Given the description of an element on the screen output the (x, y) to click on. 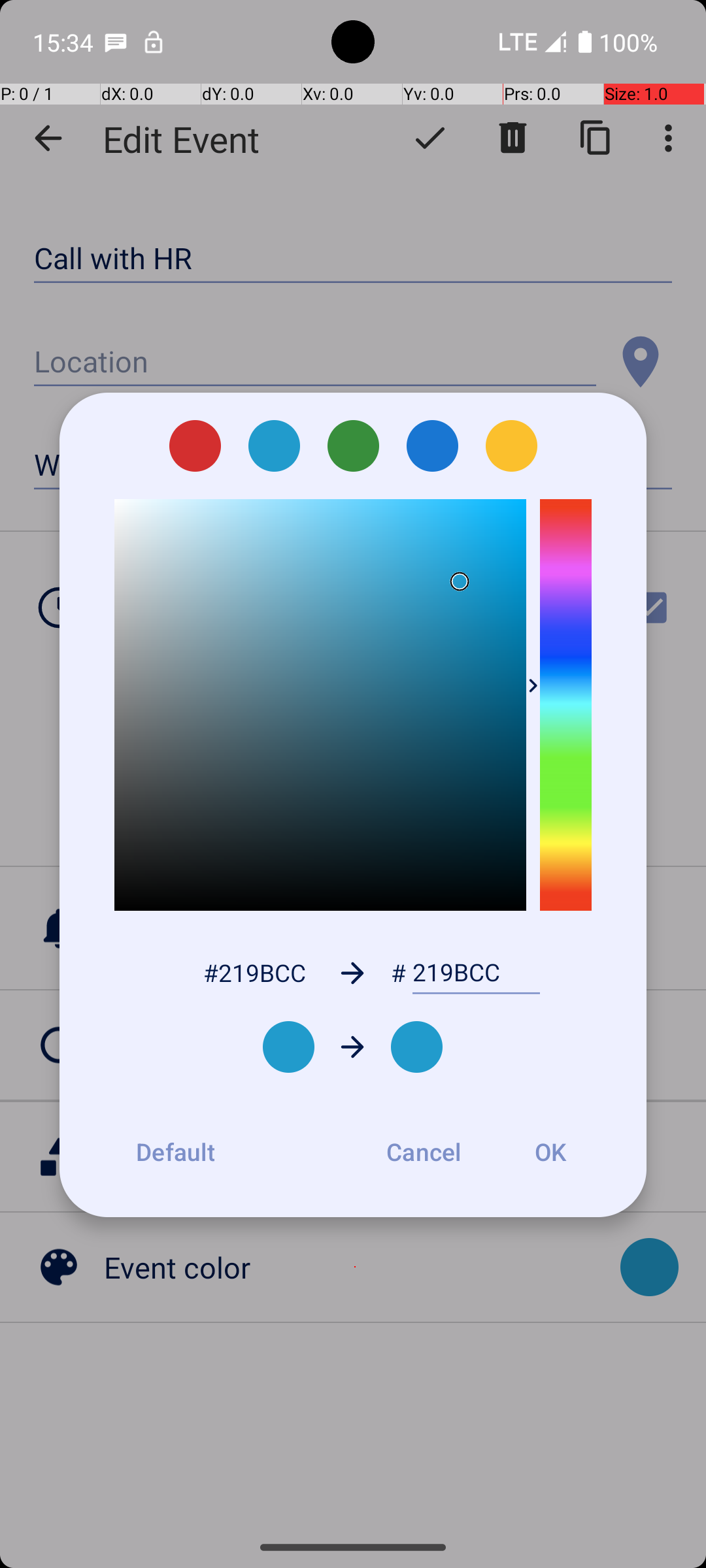
#219BCC Element type: android.widget.TextView (254, 972)
219BCC Element type: android.widget.EditText (475, 972)
Default Element type: android.widget.Button (174, 1151)
